Given the description of an element on the screen output the (x, y) to click on. 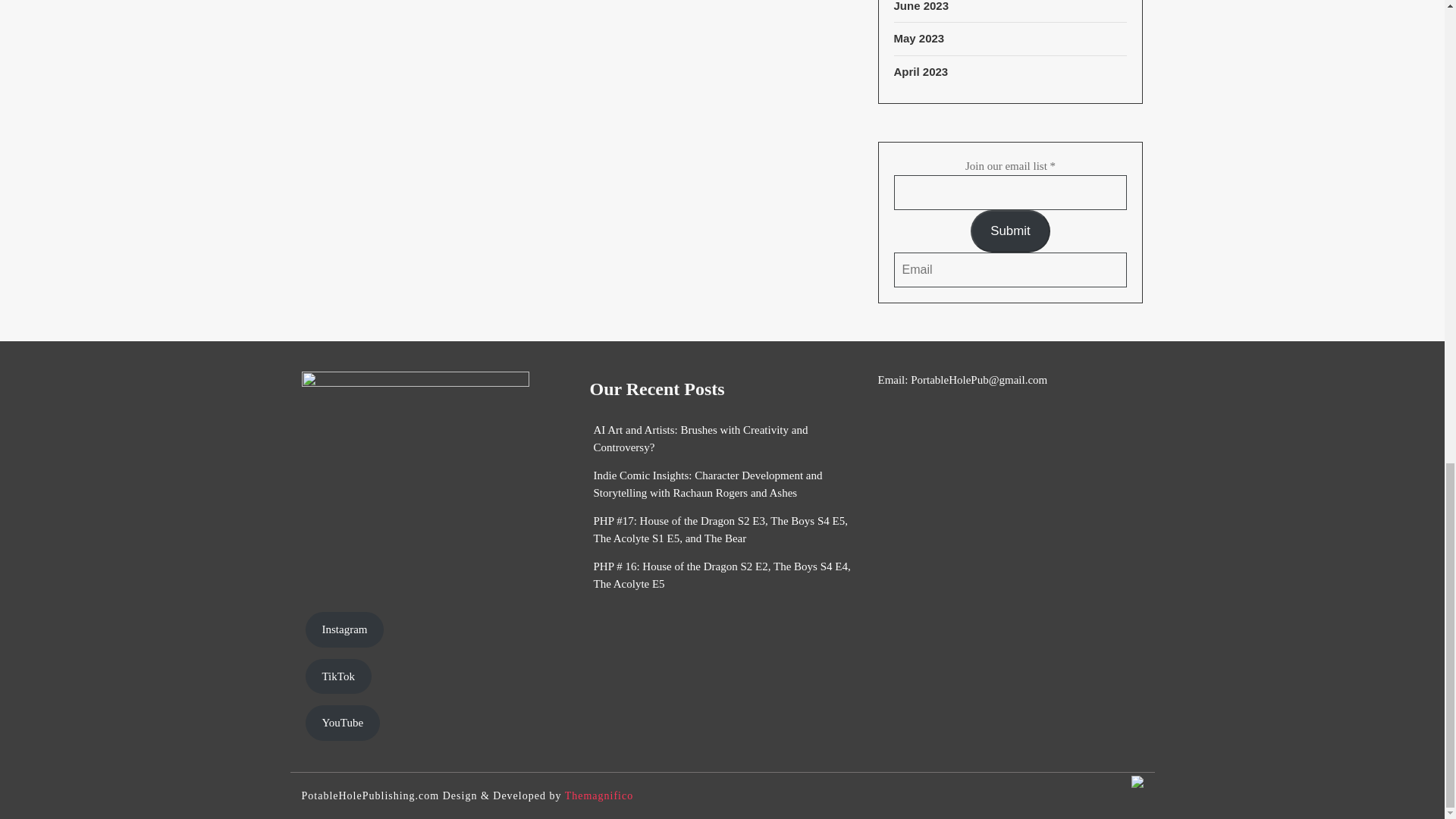
TikTok (337, 676)
YouTube (342, 723)
Instagram (344, 629)
